Given the description of an element on the screen output the (x, y) to click on. 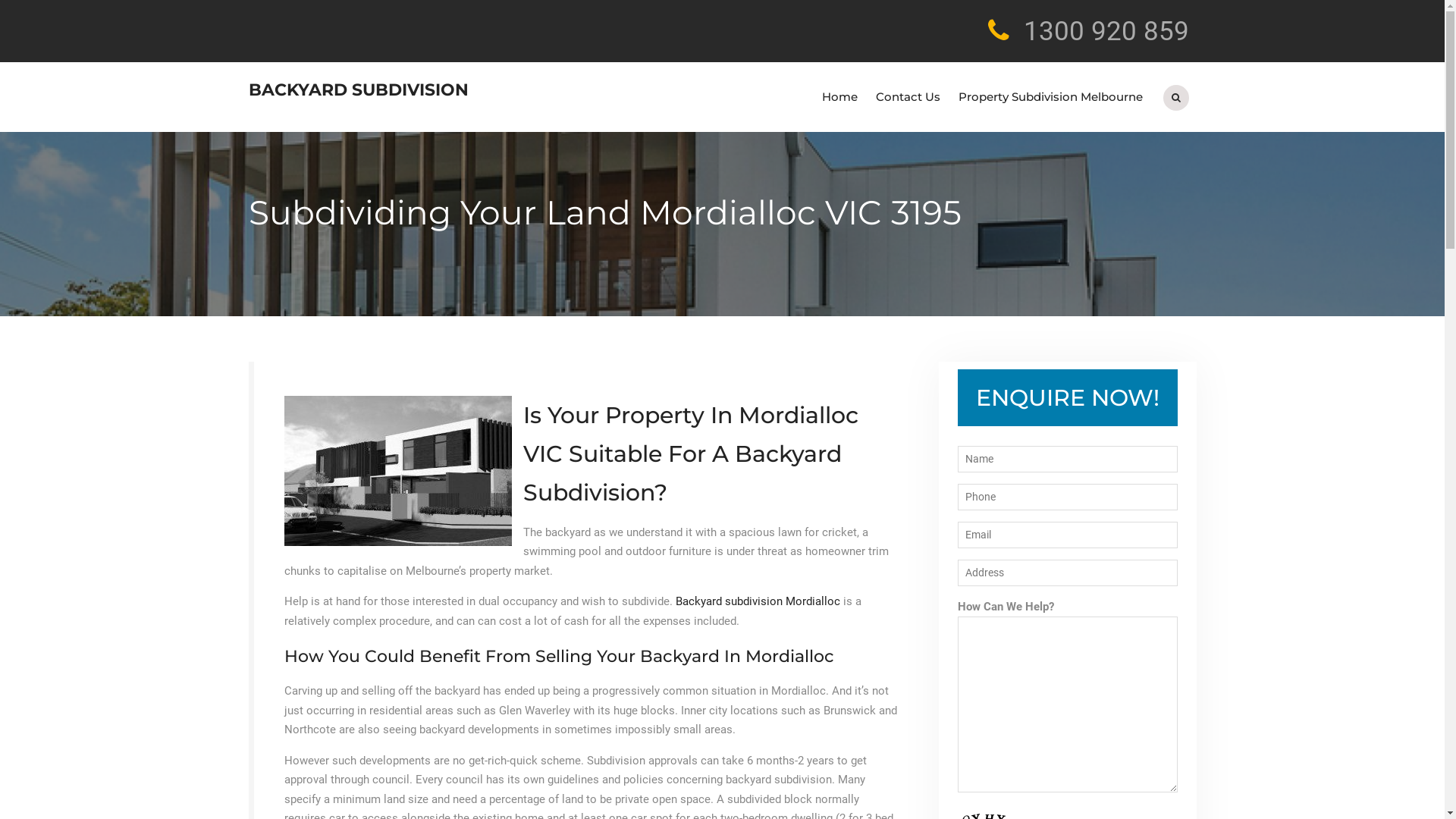
BACKYARD SUBDIVISION Element type: text (358, 89)
Skip to content Element type: text (0, 0)
1300 920 859 Element type: text (1106, 31)
Backyard subdivision Mordialloc Element type: text (756, 601)
Contact Us Element type: text (907, 96)
Home Element type: text (839, 96)
Property Subdivision Melbourne Element type: text (1050, 96)
